Given the description of an element on the screen output the (x, y) to click on. 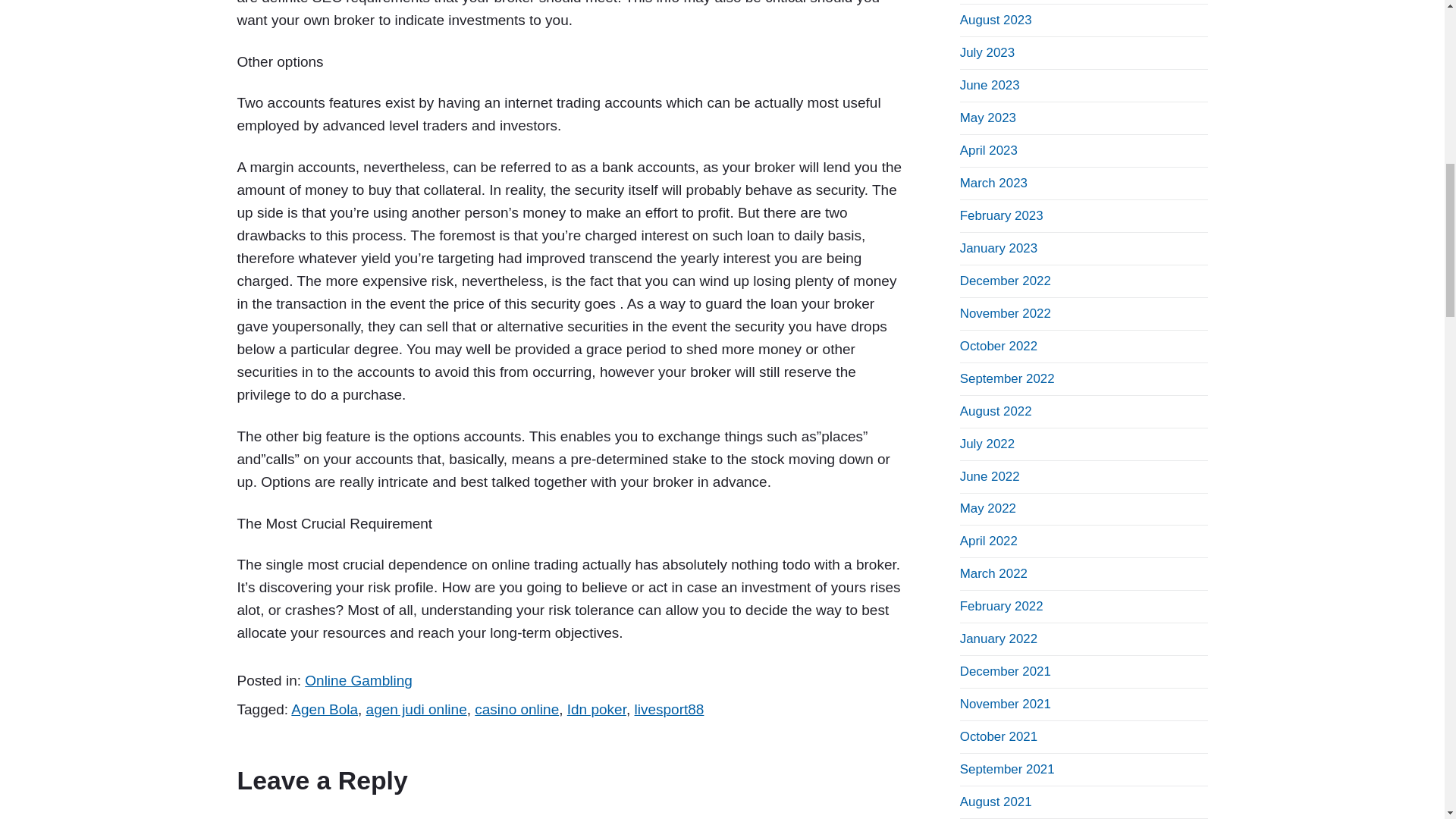
Idn poker (596, 709)
Agen Bola (324, 709)
agen judi online (416, 709)
livesport88 (668, 709)
casino online (516, 709)
Online Gambling (358, 680)
